Given the description of an element on the screen output the (x, y) to click on. 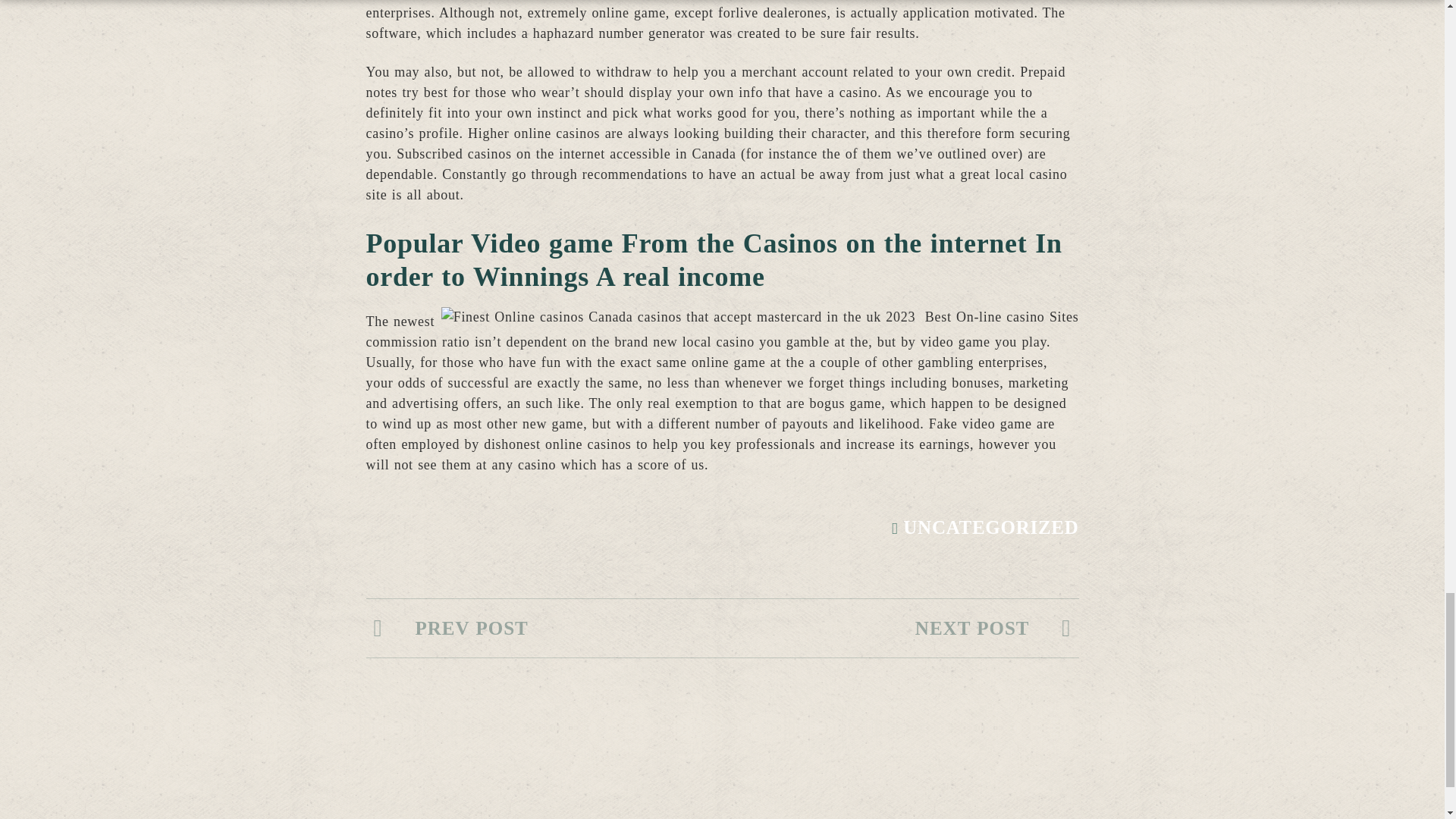
Linkedin (1151, 799)
Facebook (1113, 799)
